Given the description of an element on the screen output the (x, y) to click on. 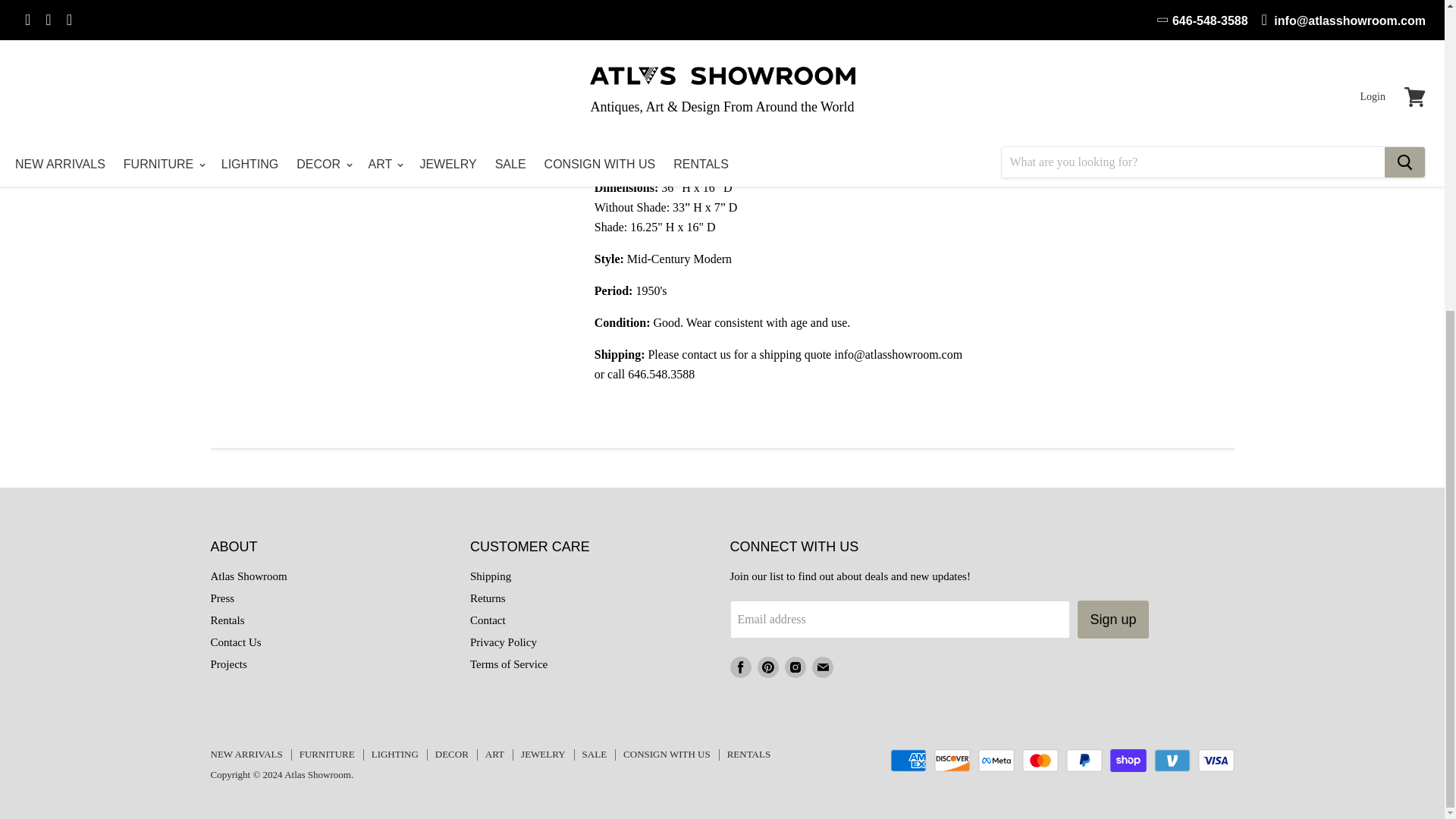
American Express (907, 760)
Discover (952, 760)
Mastercard (1040, 760)
Instagram (794, 666)
Pinterest (767, 666)
Facebook (740, 666)
E-mail (821, 666)
Meta Pay (996, 760)
